Given the description of an element on the screen output the (x, y) to click on. 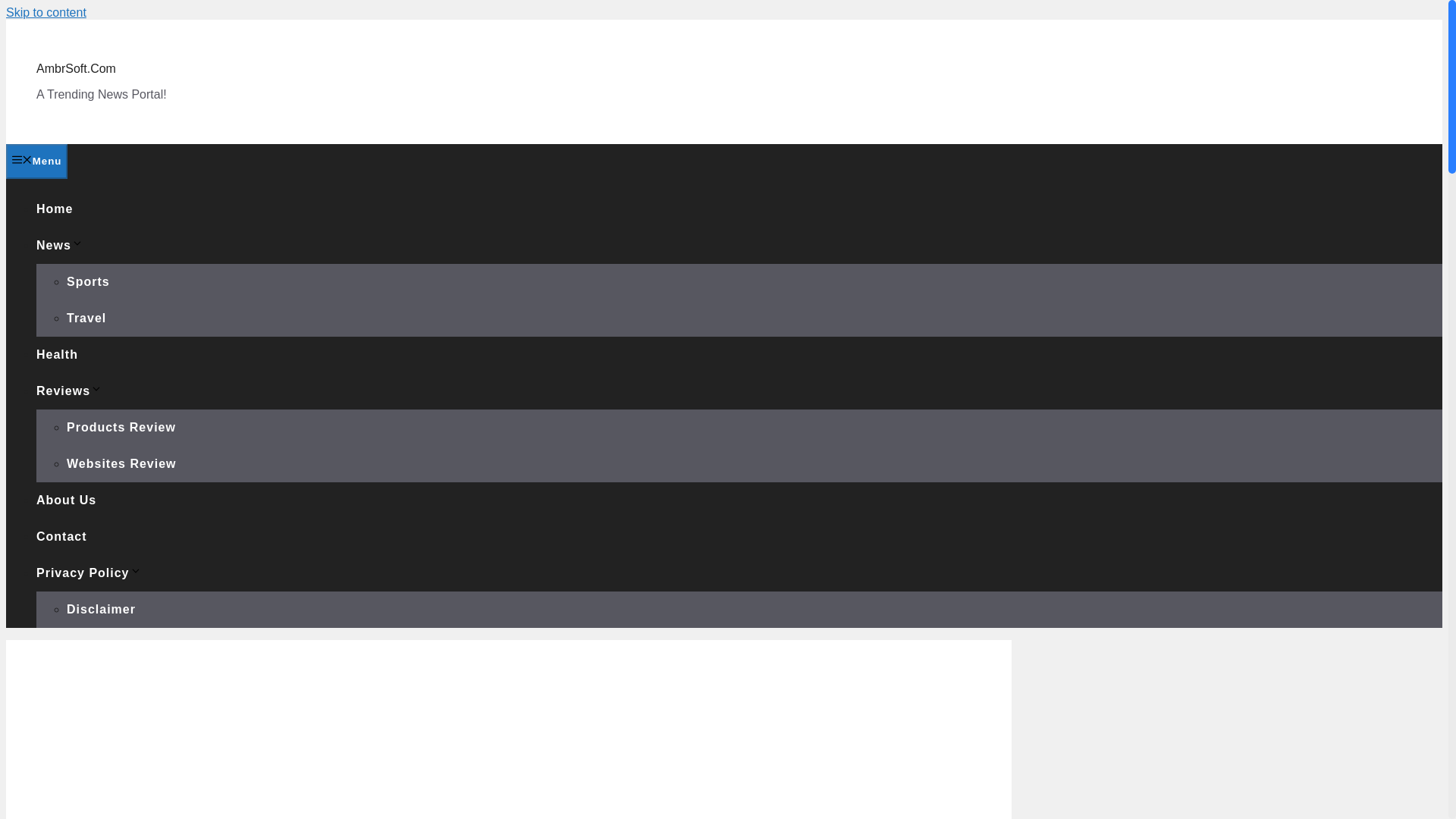
Privacy Policy (88, 572)
Contact (61, 535)
Home (54, 208)
Reviews (68, 390)
Menu (35, 161)
Skip to content (45, 11)
About Us (66, 499)
Websites Review (121, 463)
Disclaimer (100, 608)
Health (57, 354)
